Given the description of an element on the screen output the (x, y) to click on. 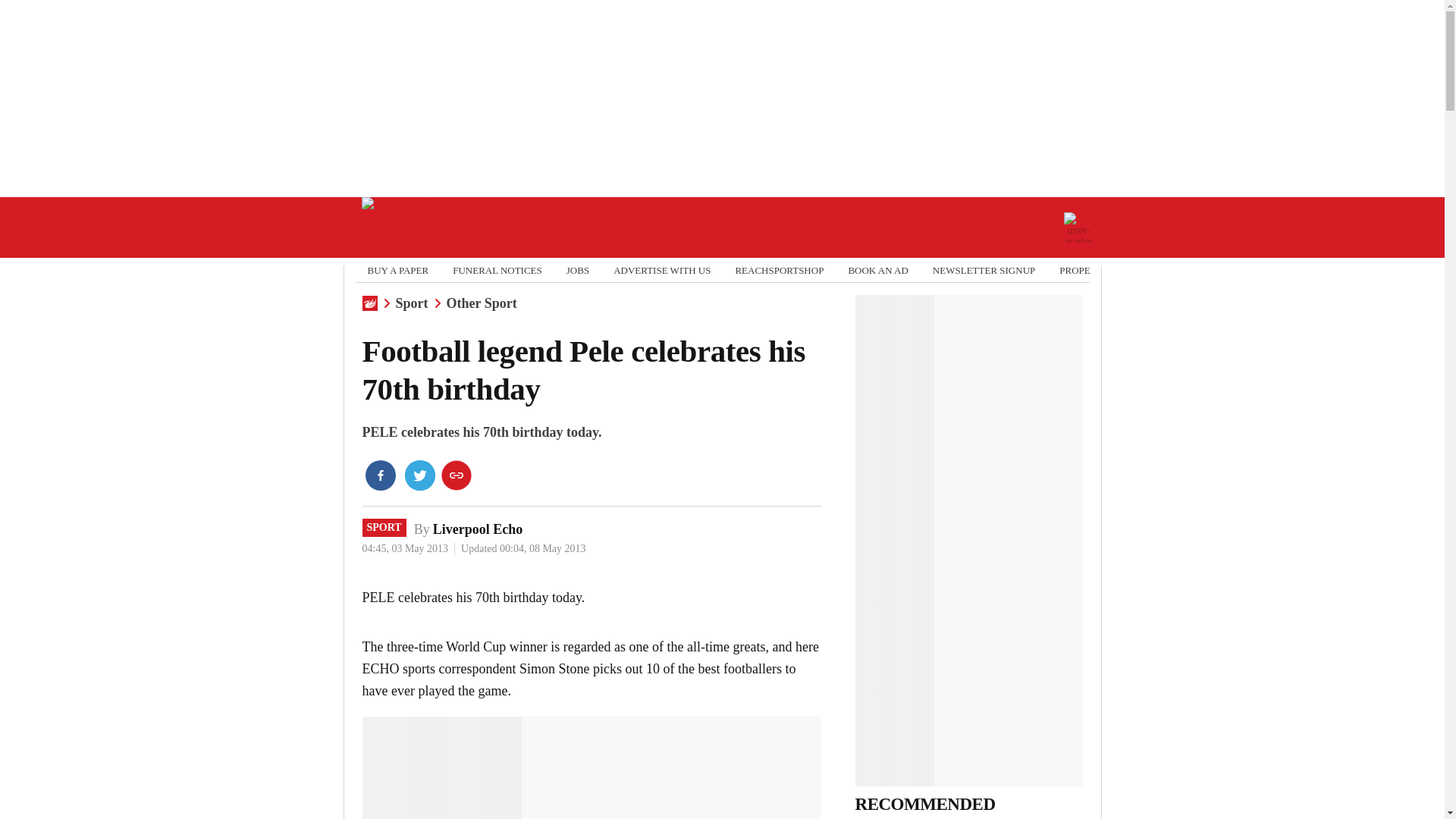
avatar (1077, 227)
ADVERTISE WITH US (661, 270)
PROPERTY (1084, 270)
Sport (412, 303)
BUY A PAPER (397, 270)
REACHSPORTSHOP (779, 270)
Other Sport (481, 303)
BOOK AN AD (877, 270)
NEWSLETTER SIGNUP (984, 270)
copy link (456, 475)
